Given the description of an element on the screen output the (x, y) to click on. 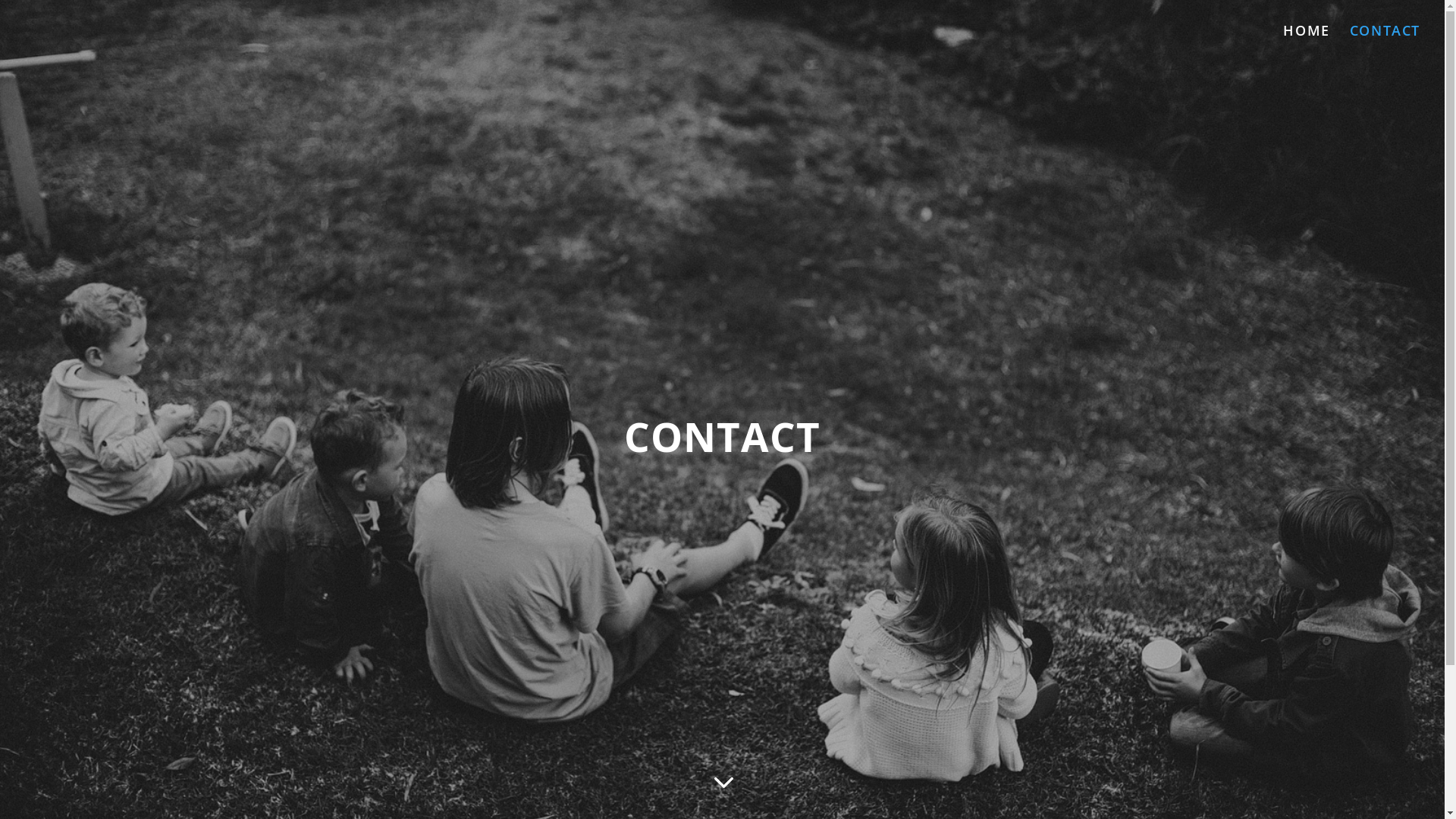
3 Element type: text (722, 781)
CONTACT Element type: text (1384, 42)
HOME Element type: text (1306, 42)
